Given the description of an element on the screen output the (x, y) to click on. 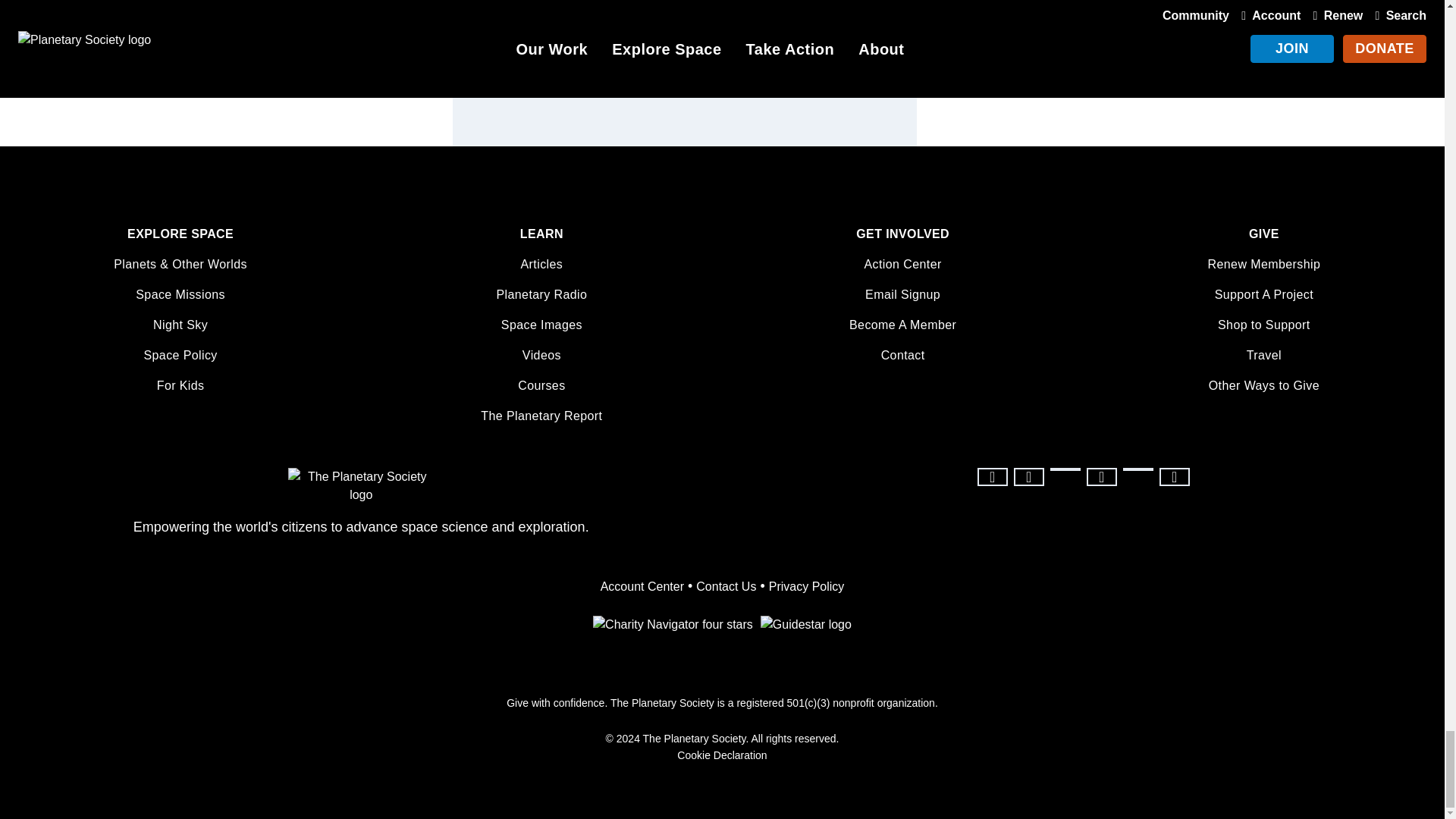
Subscribe (855, 40)
